Given the description of an element on the screen output the (x, y) to click on. 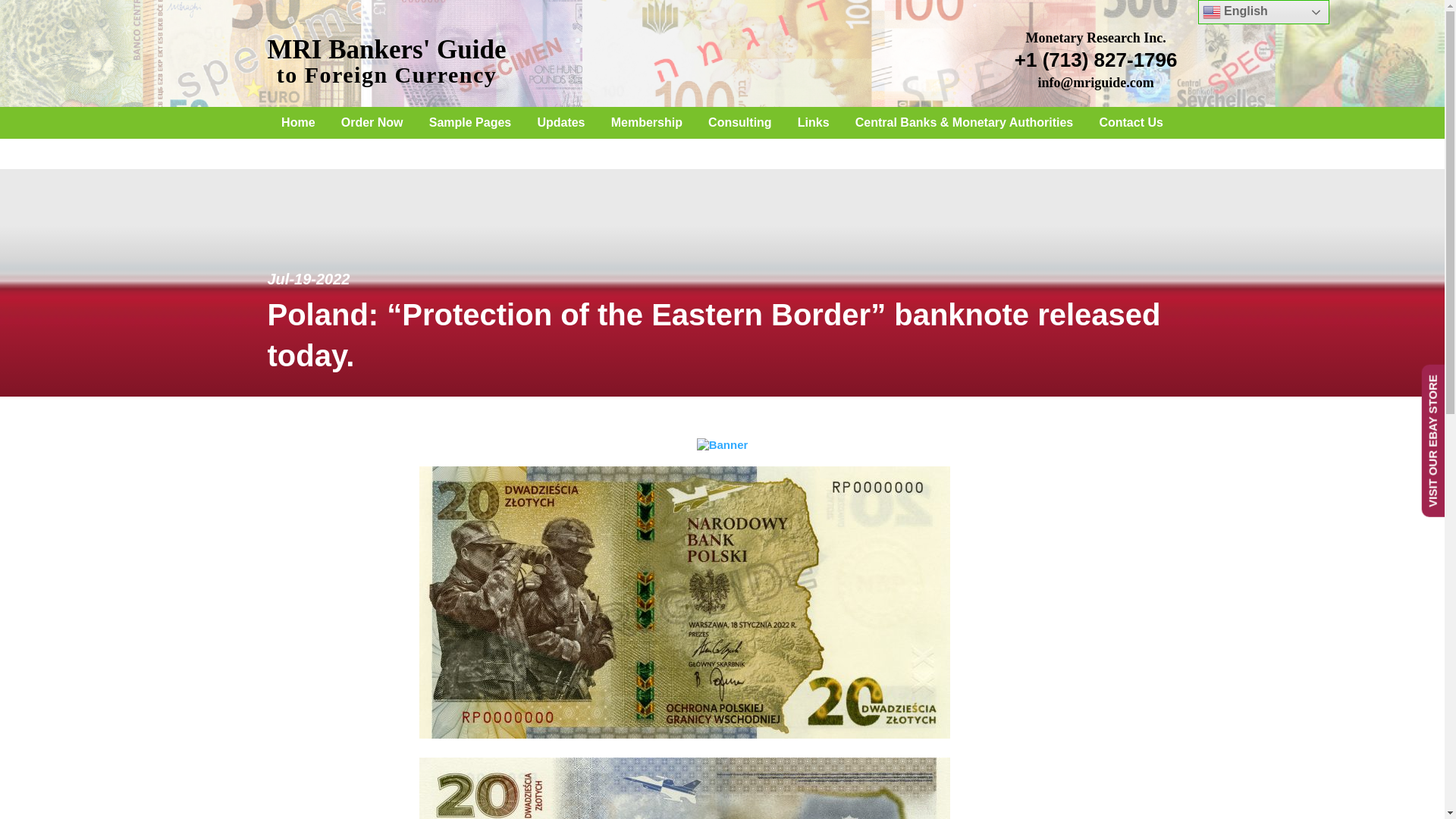
Contact Us (385, 62)
Banner (1130, 122)
Membership (722, 444)
Order Now (646, 122)
Links (372, 122)
Home (813, 122)
Updates (297, 122)
Consulting (560, 122)
Sample Pages (740, 122)
